Given the description of an element on the screen output the (x, y) to click on. 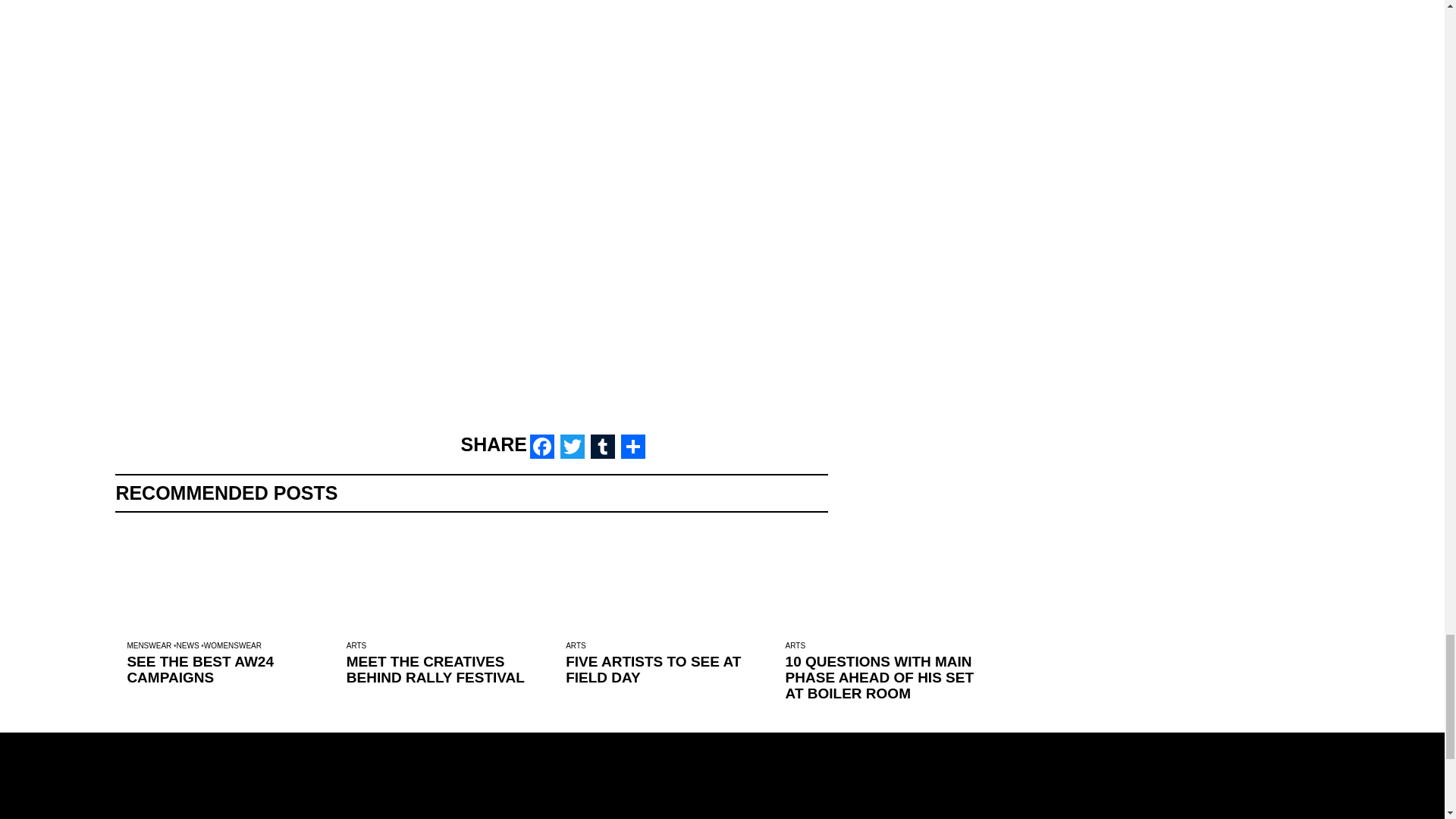
Tumblr (602, 446)
Twitter (572, 446)
Facebook (542, 446)
